Given the description of an element on the screen output the (x, y) to click on. 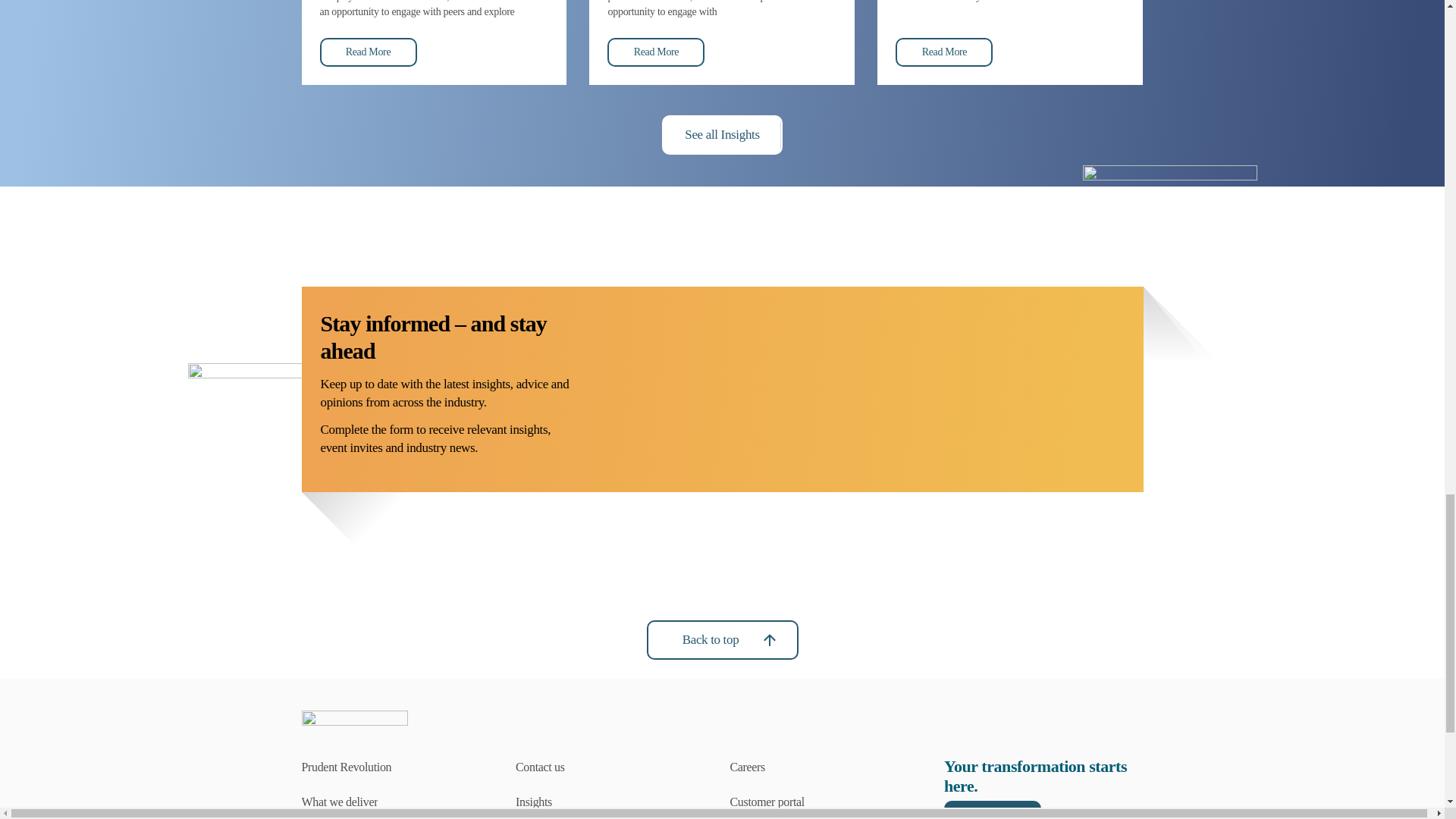
square-blue (293, 469)
Back to top (721, 639)
circle-noshadow-yellow (1170, 252)
